Given the description of an element on the screen output the (x, y) to click on. 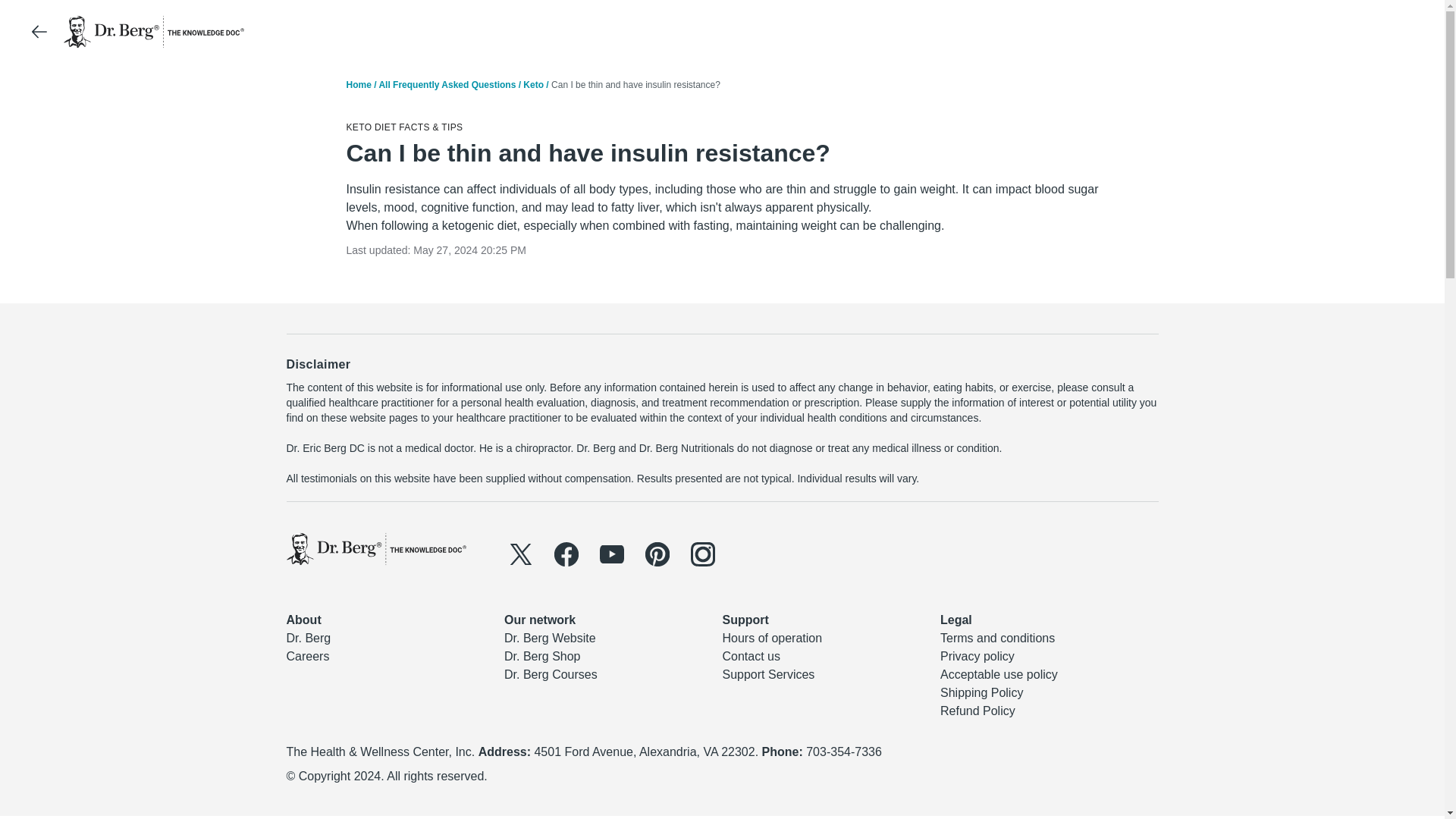
Shipping Policy (981, 692)
Privacy policy (977, 656)
Dr. Berg Website (549, 637)
Dr. Berg (308, 637)
Acceptable use policy (999, 674)
Dr. Berg Courses (549, 674)
Support Services (767, 674)
Dr. Berg Shop (541, 656)
Careers (308, 656)
Home (358, 84)
